Given the description of an element on the screen output the (x, y) to click on. 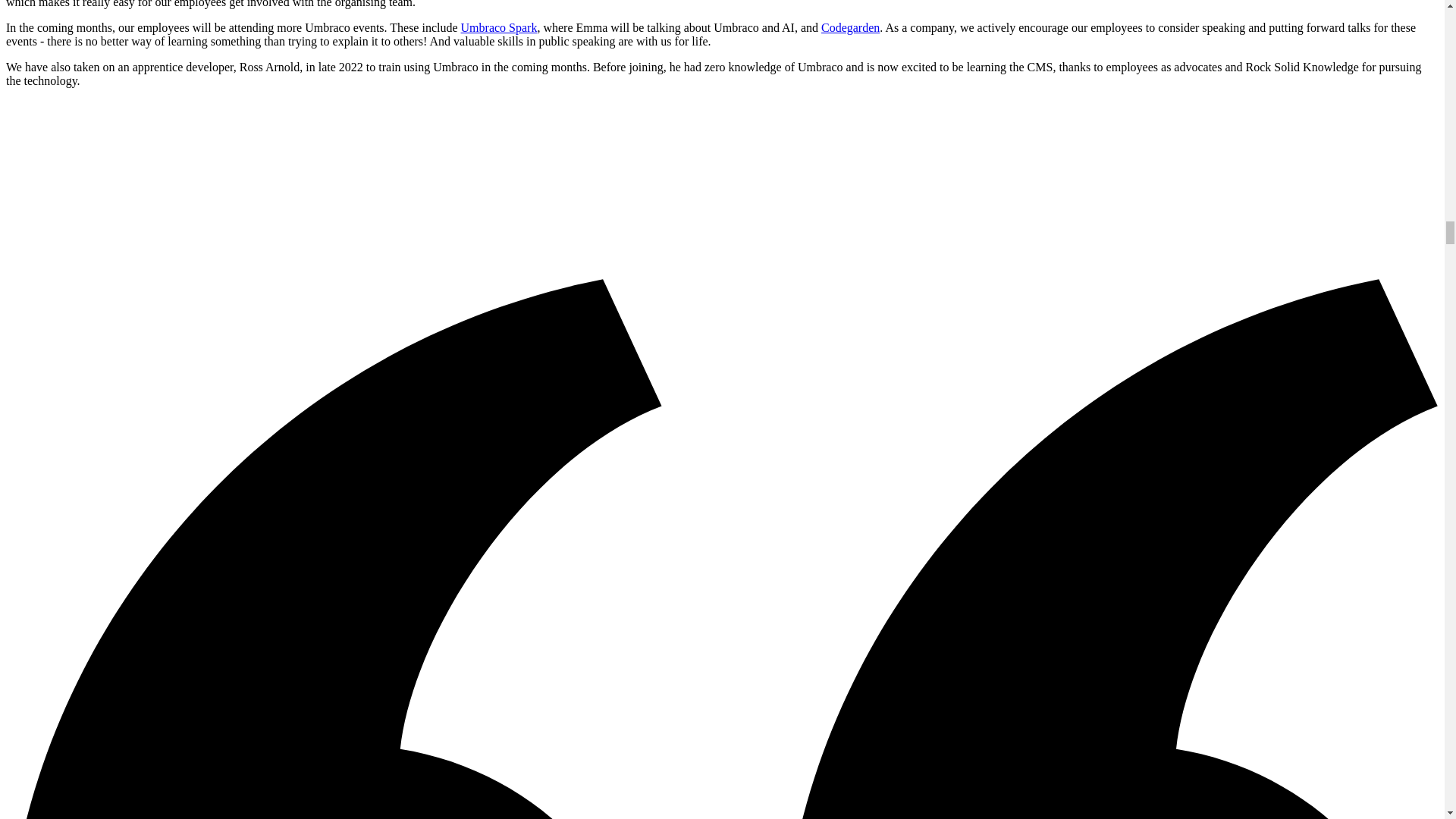
Codegarden (850, 27)
Umbraco Spark (499, 27)
